Given the description of an element on the screen output the (x, y) to click on. 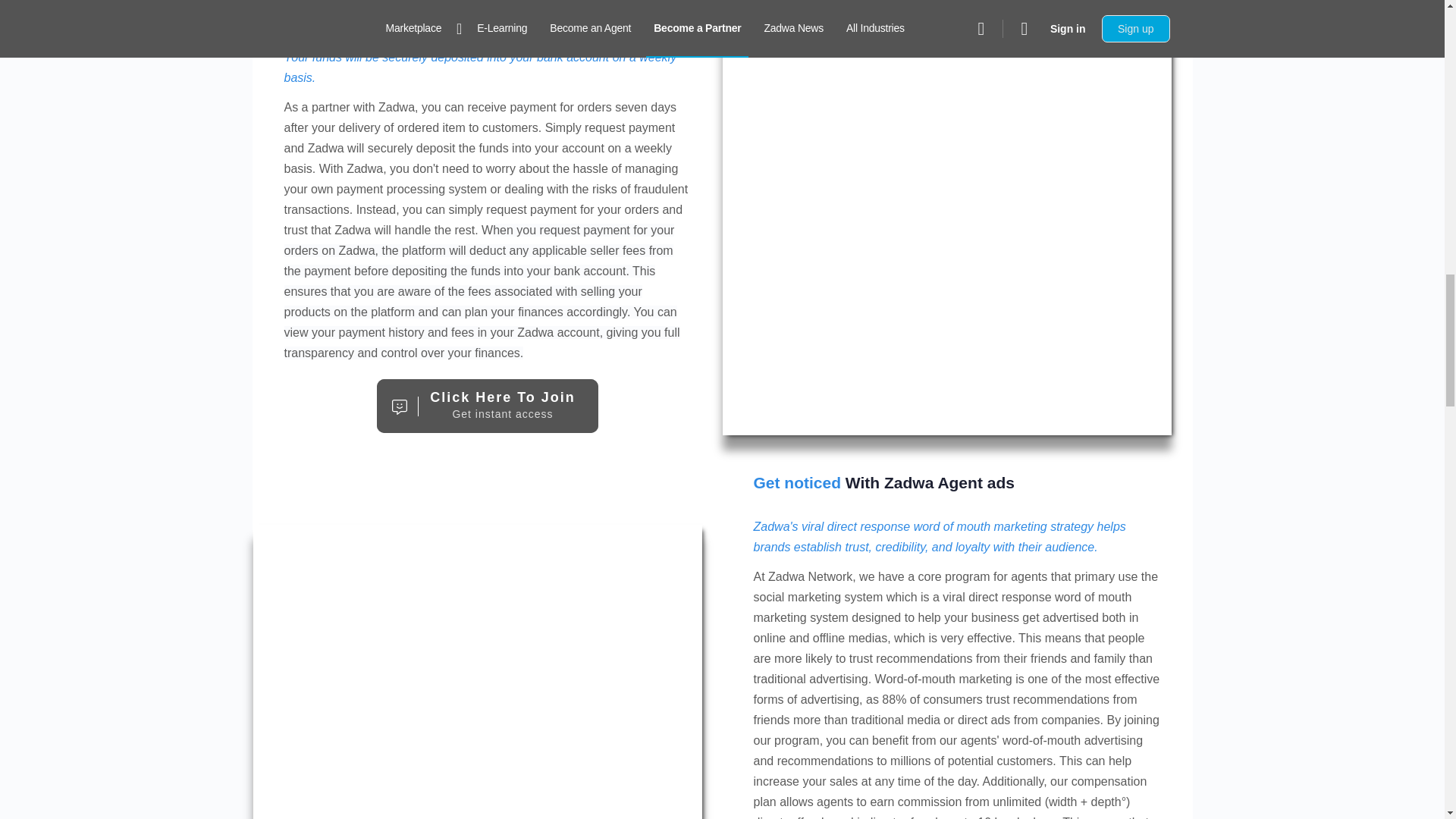
Zadwa Agents (477, 671)
Secure Payment (487, 406)
